Given the description of an element on the screen output the (x, y) to click on. 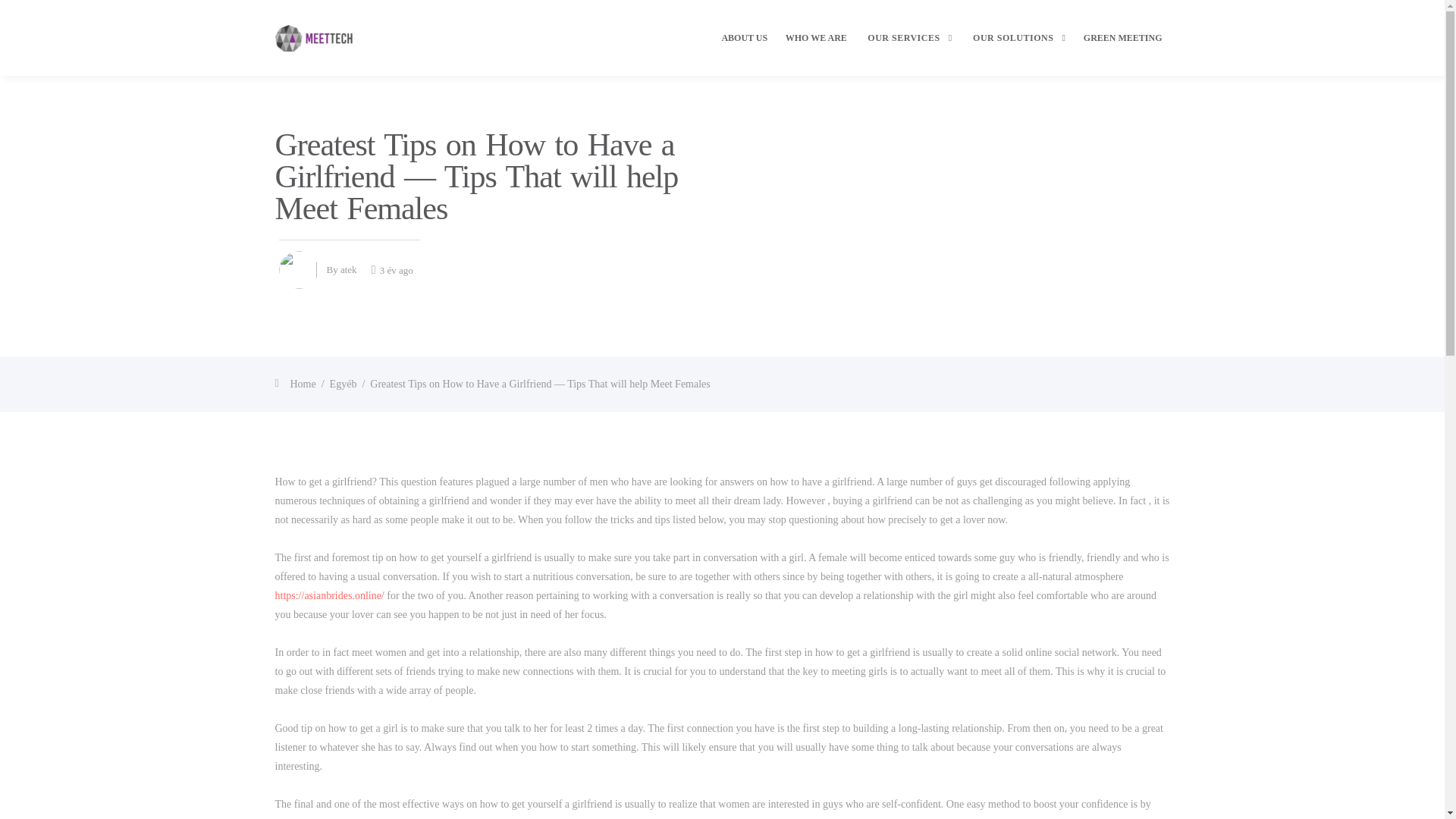
WHO WE ARE (815, 51)
Home (302, 383)
GREEN MEETING (1122, 51)
OUR SERVICES (908, 51)
atek (348, 269)
ABOUT US (743, 51)
OUR SOLUTIONS (1017, 51)
